Given the description of an element on the screen output the (x, y) to click on. 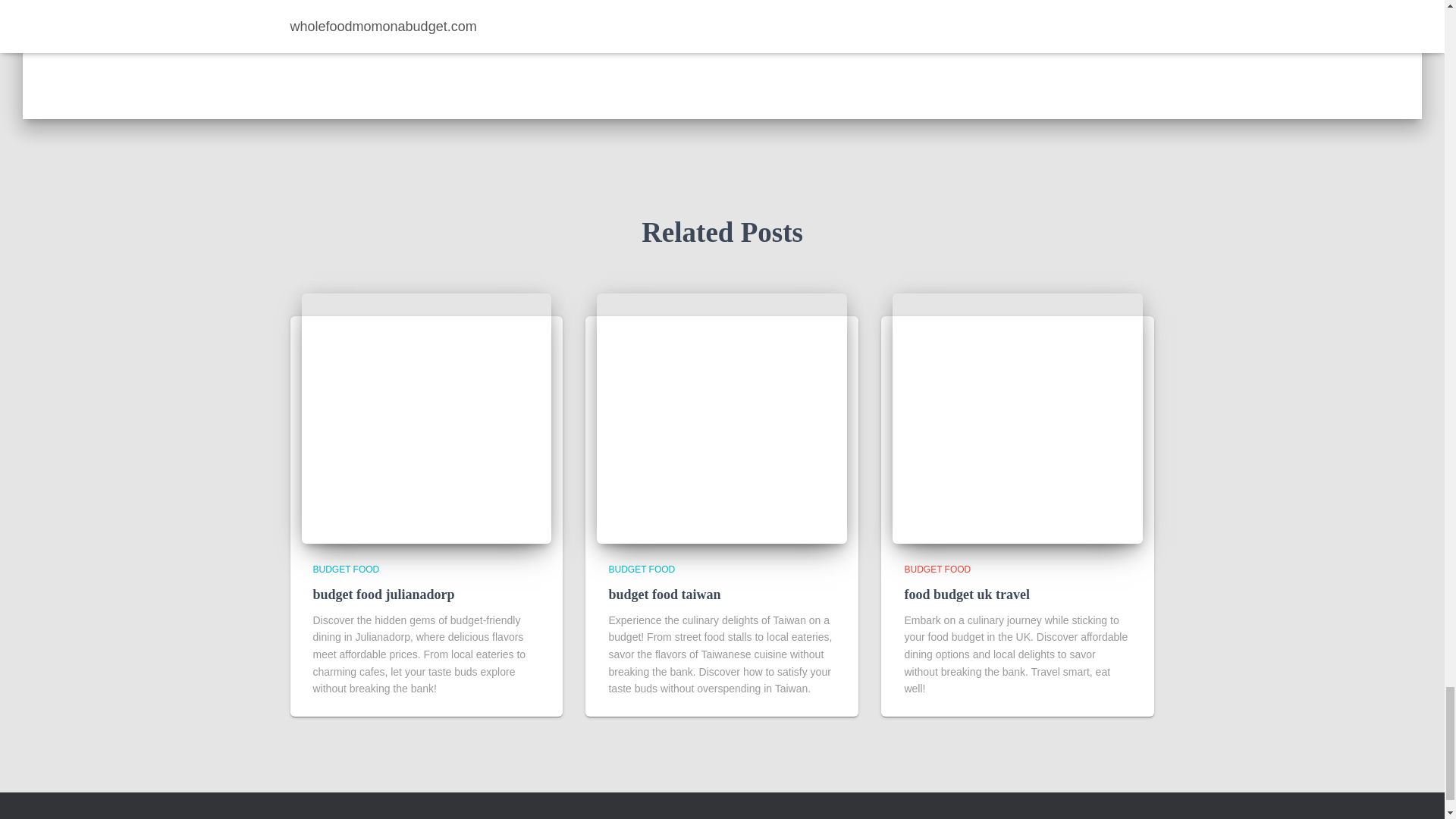
budget food julianadorp (383, 594)
View all posts in Budget Food (345, 569)
Post Comment (796, 2)
budget food taiwan (721, 418)
Post Comment (796, 2)
View all posts in Budget Food (641, 569)
budget food julianadorp (426, 418)
budget food taiwan (664, 594)
